Given the description of an element on the screen output the (x, y) to click on. 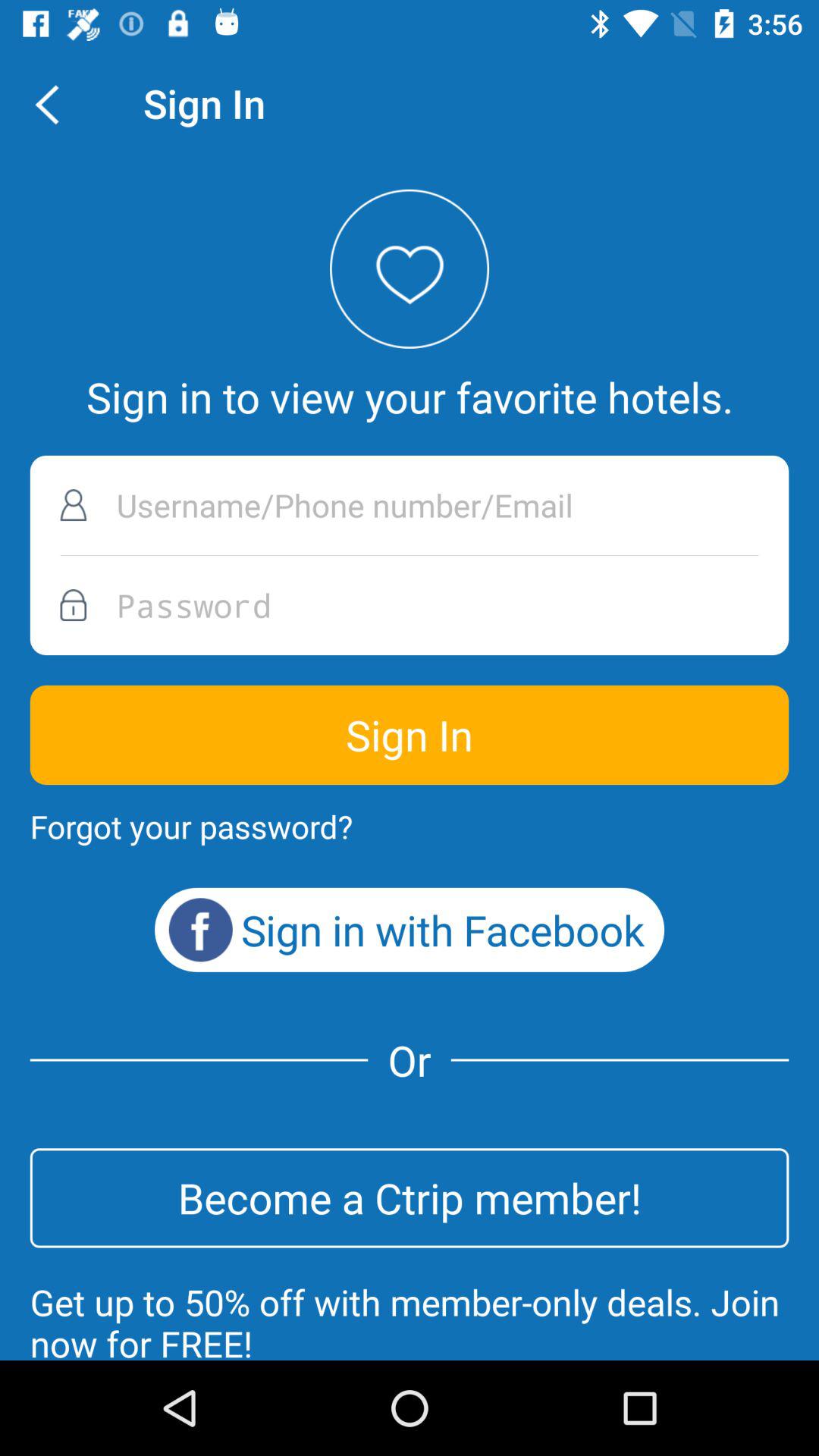
enter the username (409, 505)
